Given the description of an element on the screen output the (x, y) to click on. 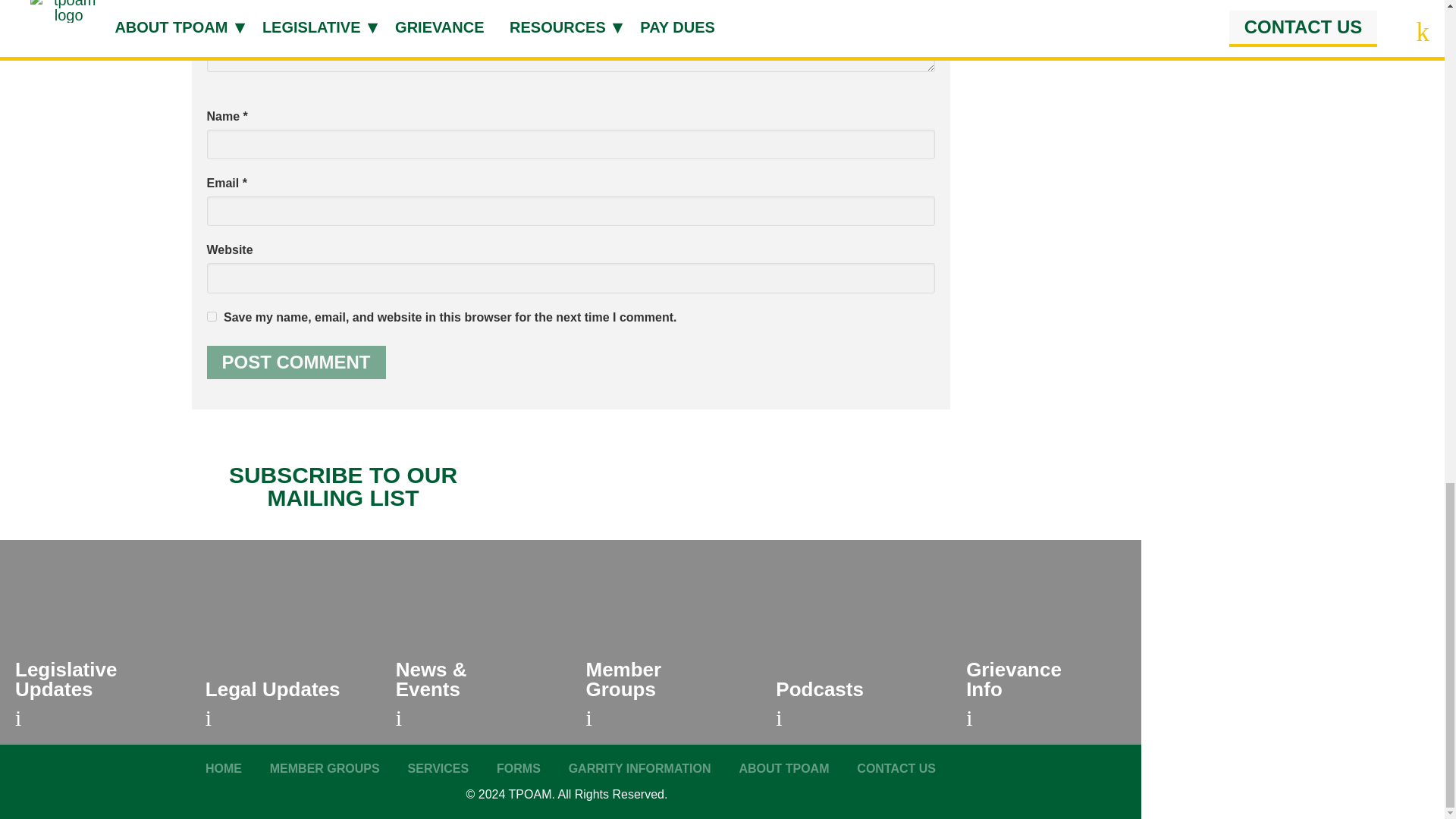
Post Comment (295, 362)
Legal Updates (285, 642)
MEMBER GROUPS (324, 768)
Grievance Info (1046, 642)
Podcasts (855, 642)
yes (210, 316)
Home (223, 768)
Post Comment (295, 362)
Member Groups (324, 768)
Legislative Updates (95, 642)
HOME (223, 768)
Member Groups (665, 642)
Services (437, 768)
